Given the description of an element on the screen output the (x, y) to click on. 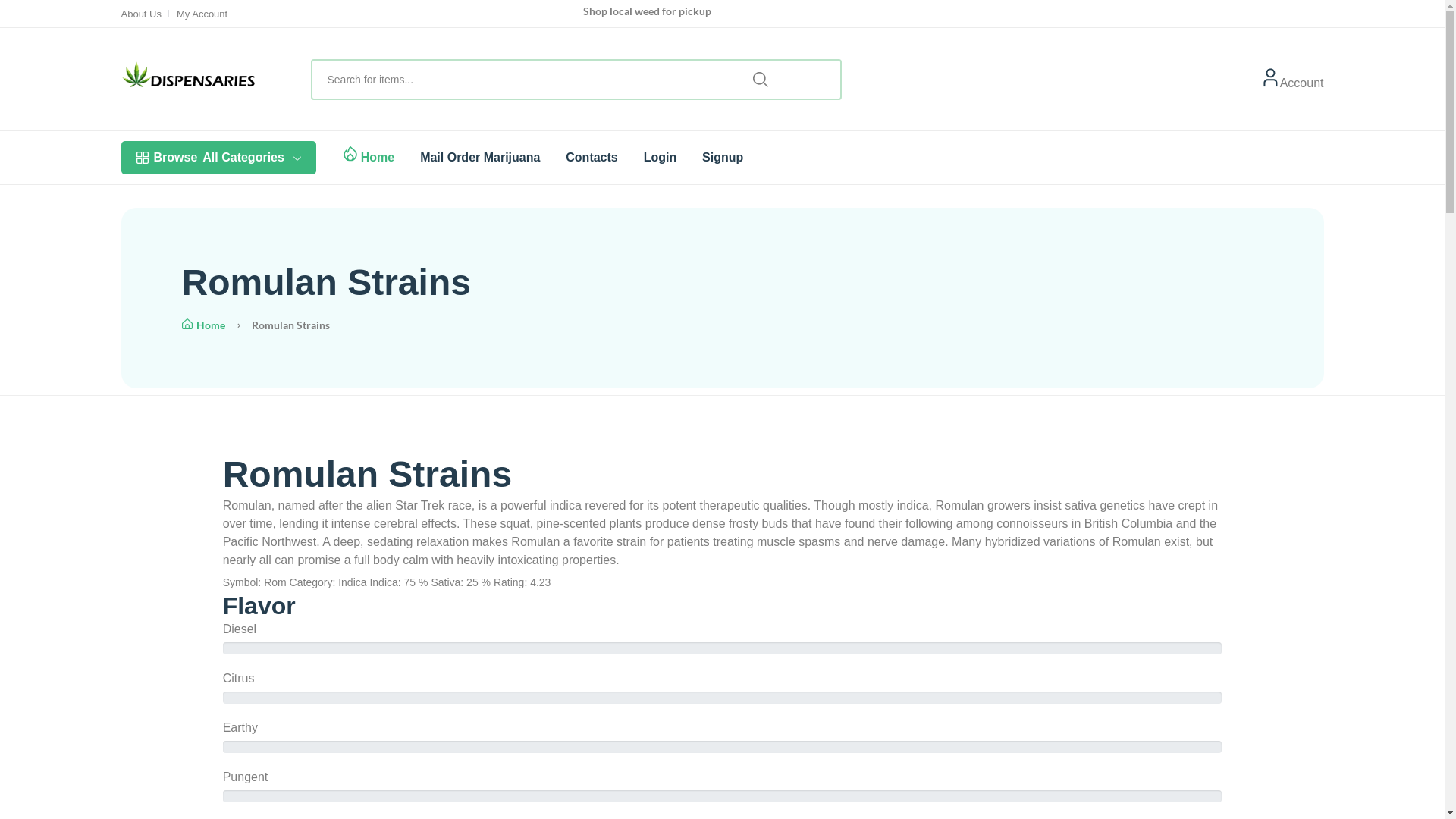
Login Element type: text (660, 157)
Browse
All Categories Element type: text (218, 157)
About Us Element type: text (141, 13)
Account Element type: text (1302, 79)
Mail Order Marijuana Element type: text (479, 157)
Signup Element type: text (722, 157)
Contacts Element type: text (591, 157)
Home Element type: text (377, 157)
My Account Element type: text (201, 13)
Home Element type: text (203, 324)
